Given the description of an element on the screen output the (x, y) to click on. 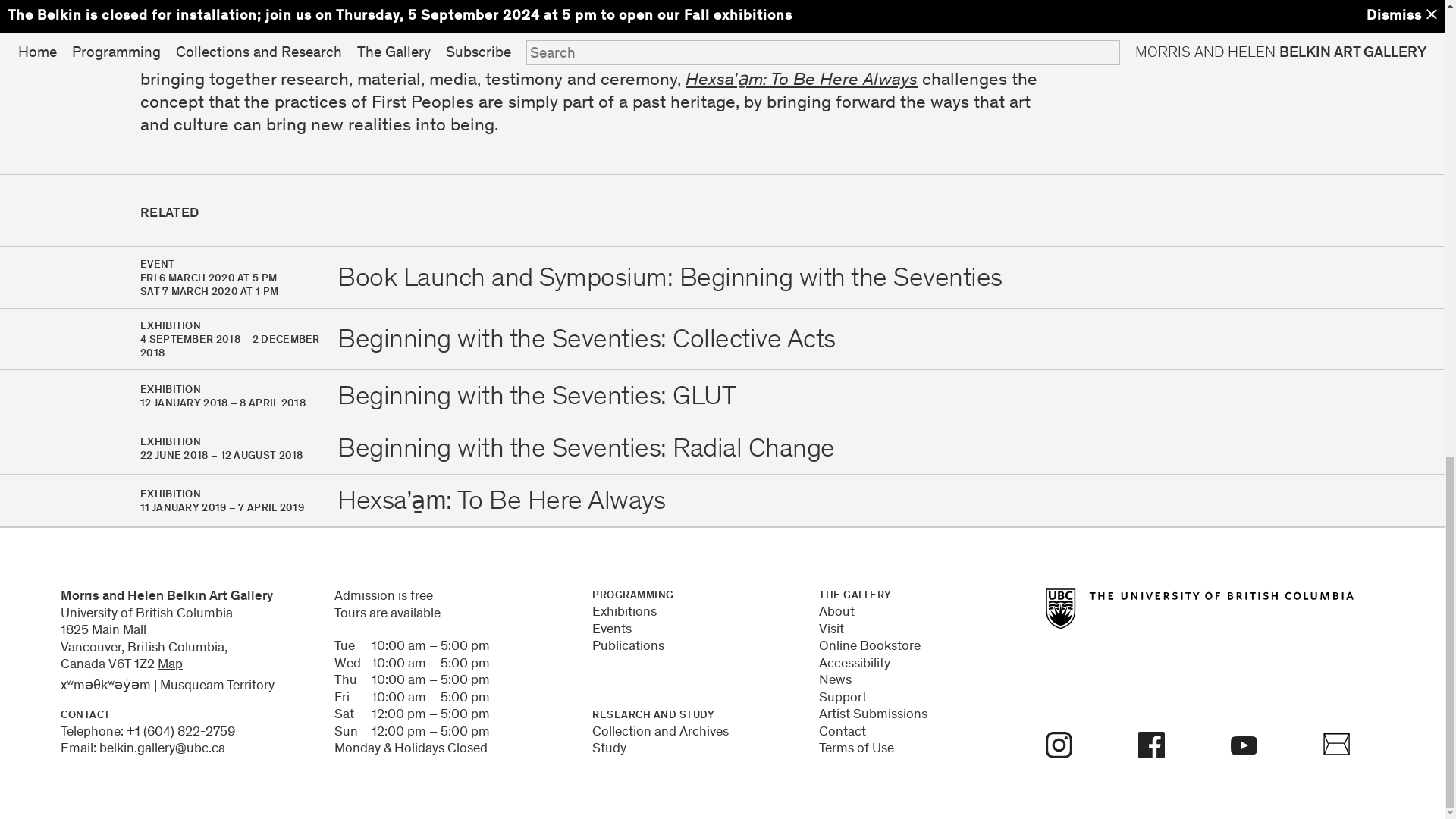
Radial Change (434, 13)
Collective Acts (746, 35)
Map (170, 664)
